Given the description of an element on the screen output the (x, y) to click on. 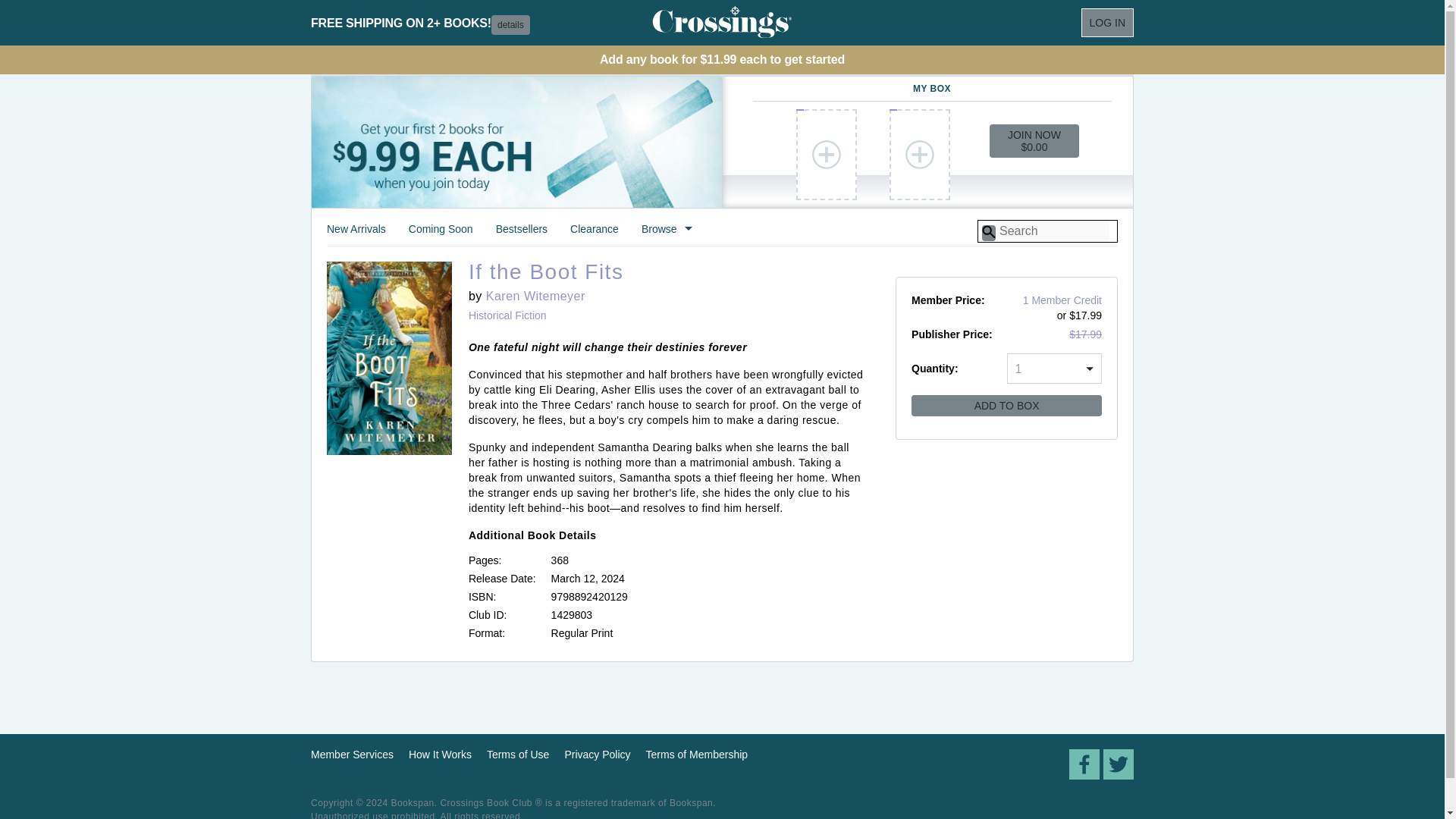
details (510, 25)
Bestsellers (521, 234)
Karen Witemeyer (535, 295)
Terms of Membership (697, 754)
Coming Soon (441, 234)
Privacy Policy (597, 754)
LOG IN (1107, 22)
Terms of Use (517, 754)
How It Works (440, 754)
Member Services (352, 754)
New Arrivals (355, 234)
Clearance (594, 234)
ADD TO BOX (1006, 405)
